Given the description of an element on the screen output the (x, y) to click on. 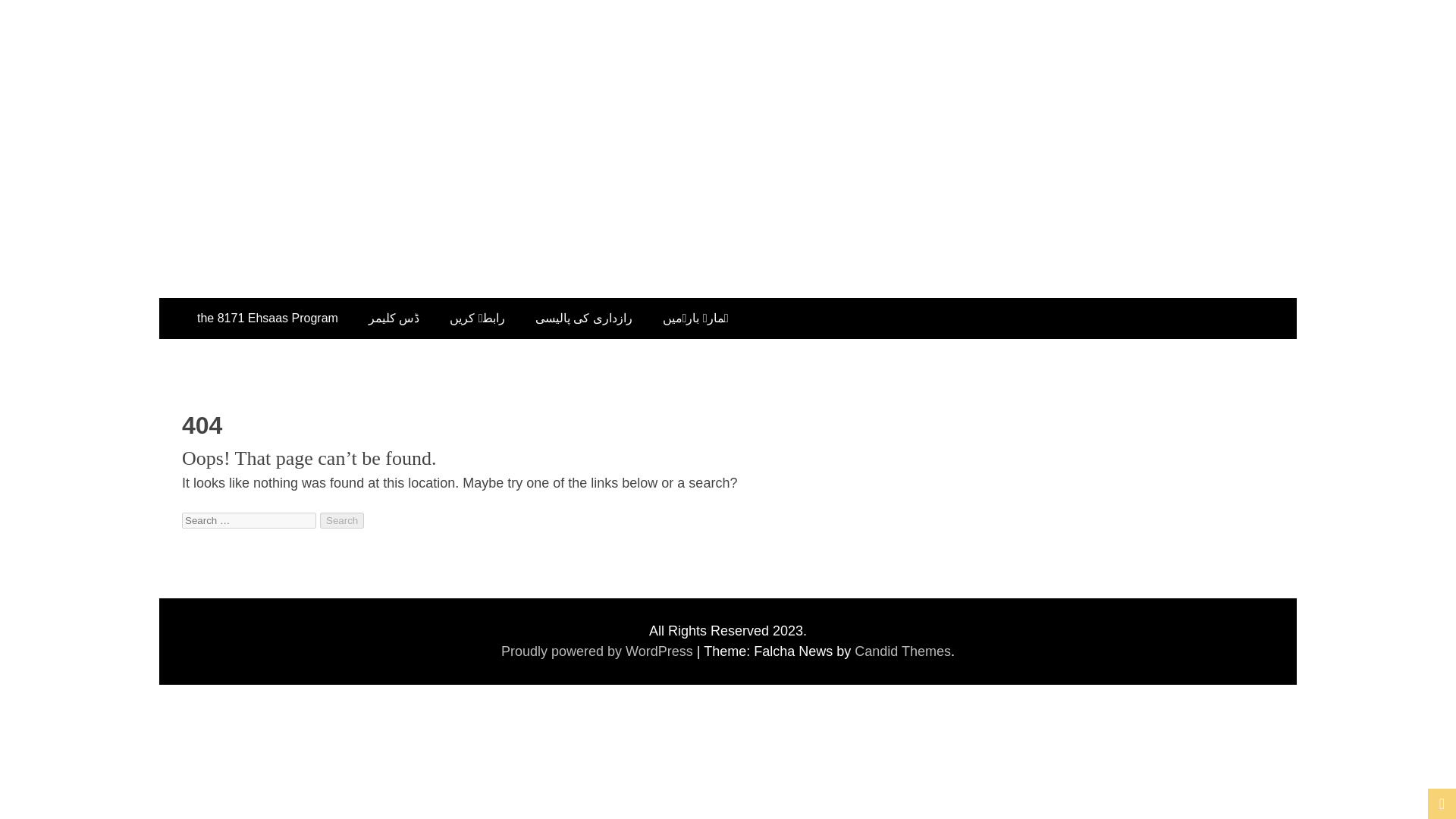
Candid Themes (902, 651)
Search (342, 520)
Search (342, 520)
the 8171 Ehsaas Program (267, 318)
Search (342, 520)
Proudly powered by WordPress (598, 651)
